Given the description of an element on the screen output the (x, y) to click on. 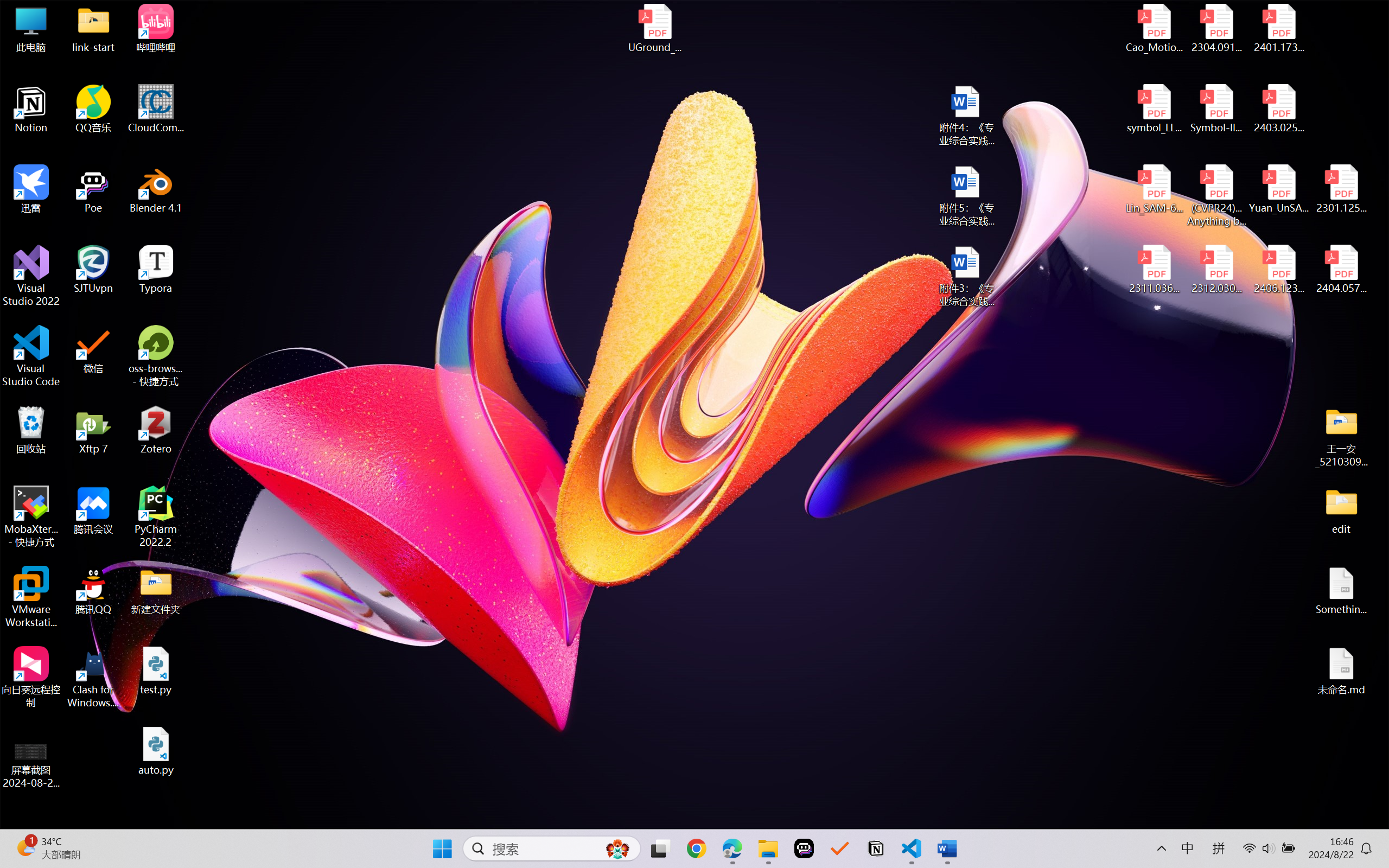
2404.05719v1.pdf (1340, 269)
Blender 4.1 (156, 189)
Xftp 7 (93, 430)
